Given the description of an element on the screen output the (x, y) to click on. 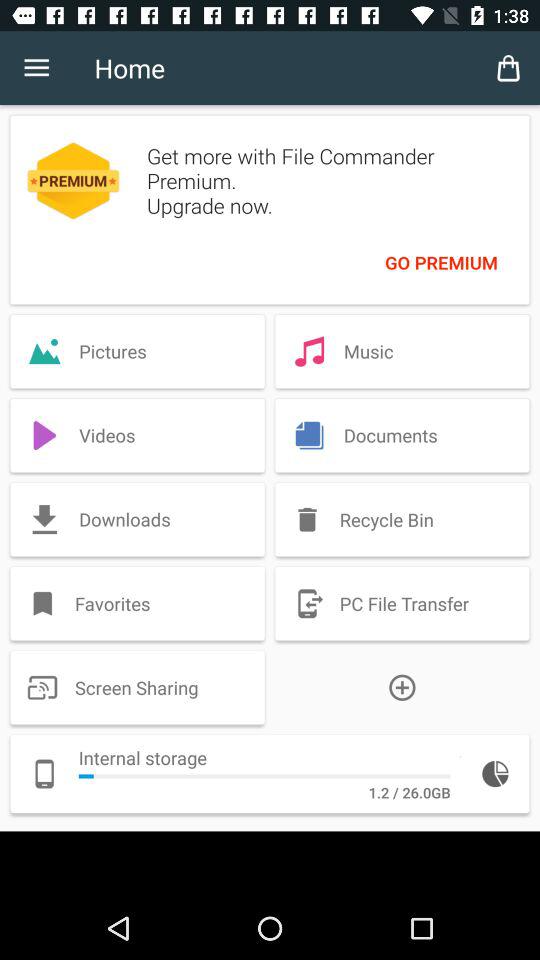
open the icon above the go premium icon (508, 67)
